Given the description of an element on the screen output the (x, y) to click on. 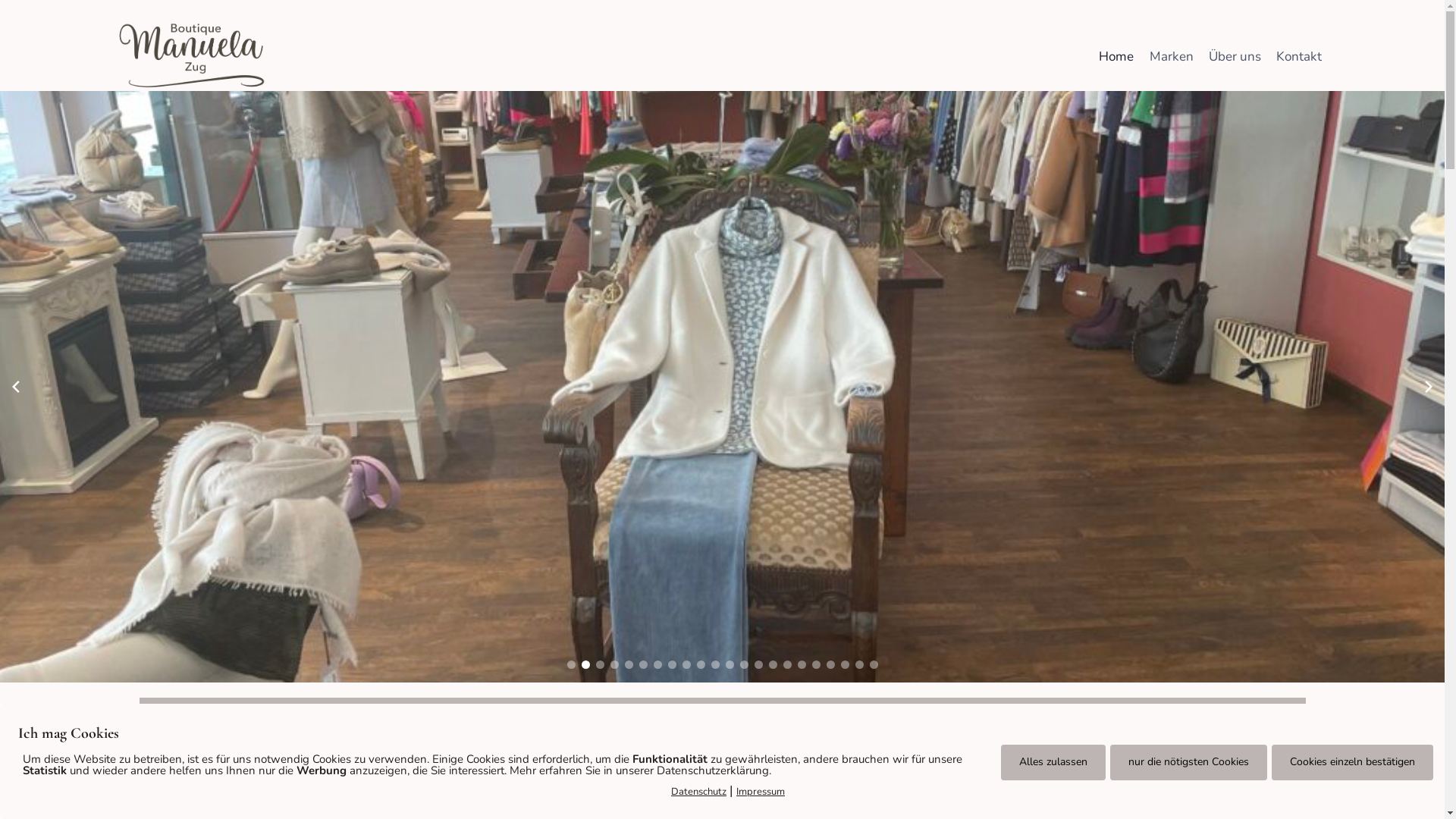
Marken Element type: text (1170, 56)
Datenschutz Element type: text (698, 791)
Home Element type: text (1116, 56)
Kontakt Element type: text (1298, 56)
Impressum Element type: text (760, 791)
Alles zulassen Element type: text (1053, 761)
